Given the description of an element on the screen output the (x, y) to click on. 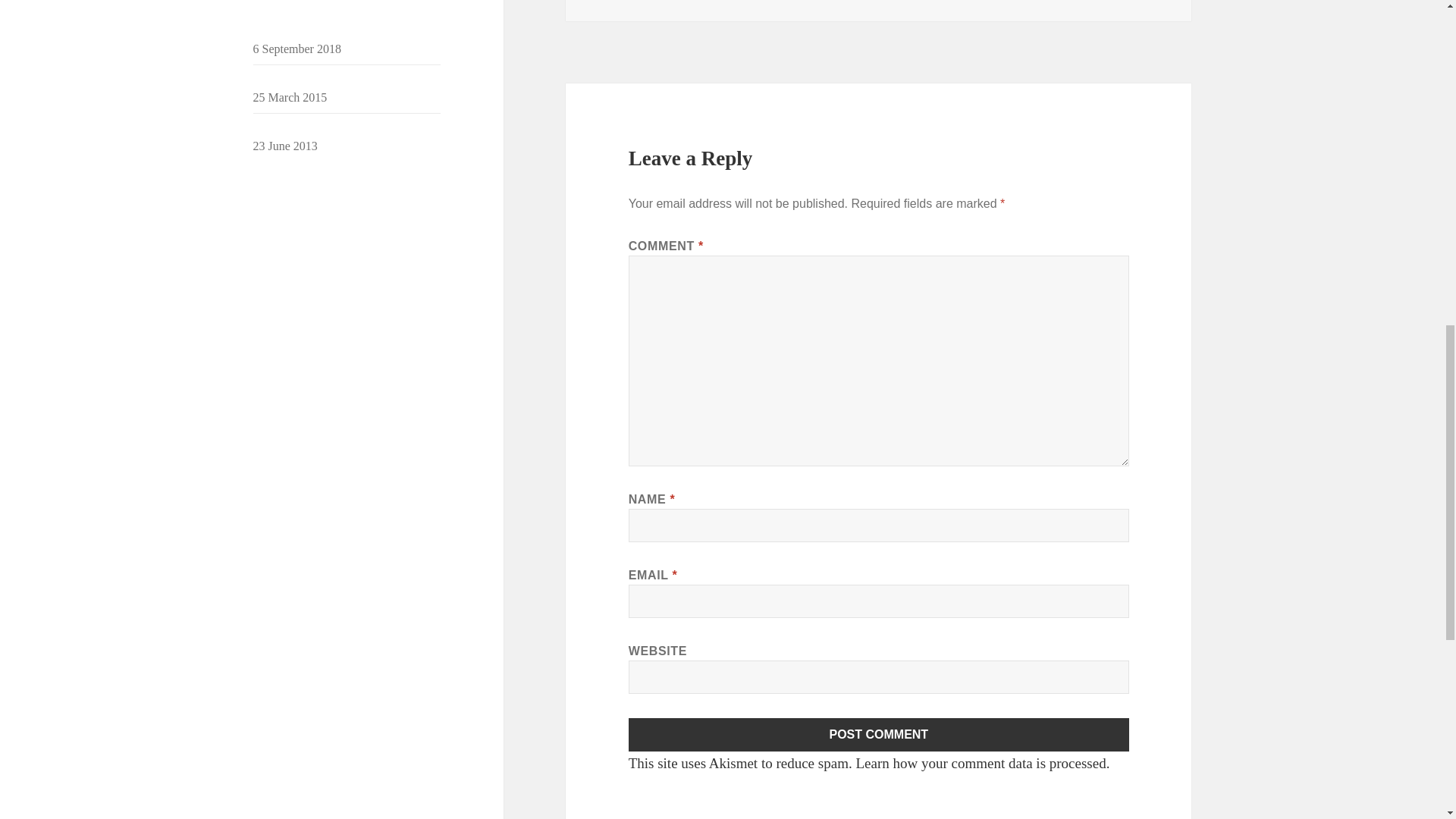
Post Comment (878, 734)
